Given the description of an element on the screen output the (x, y) to click on. 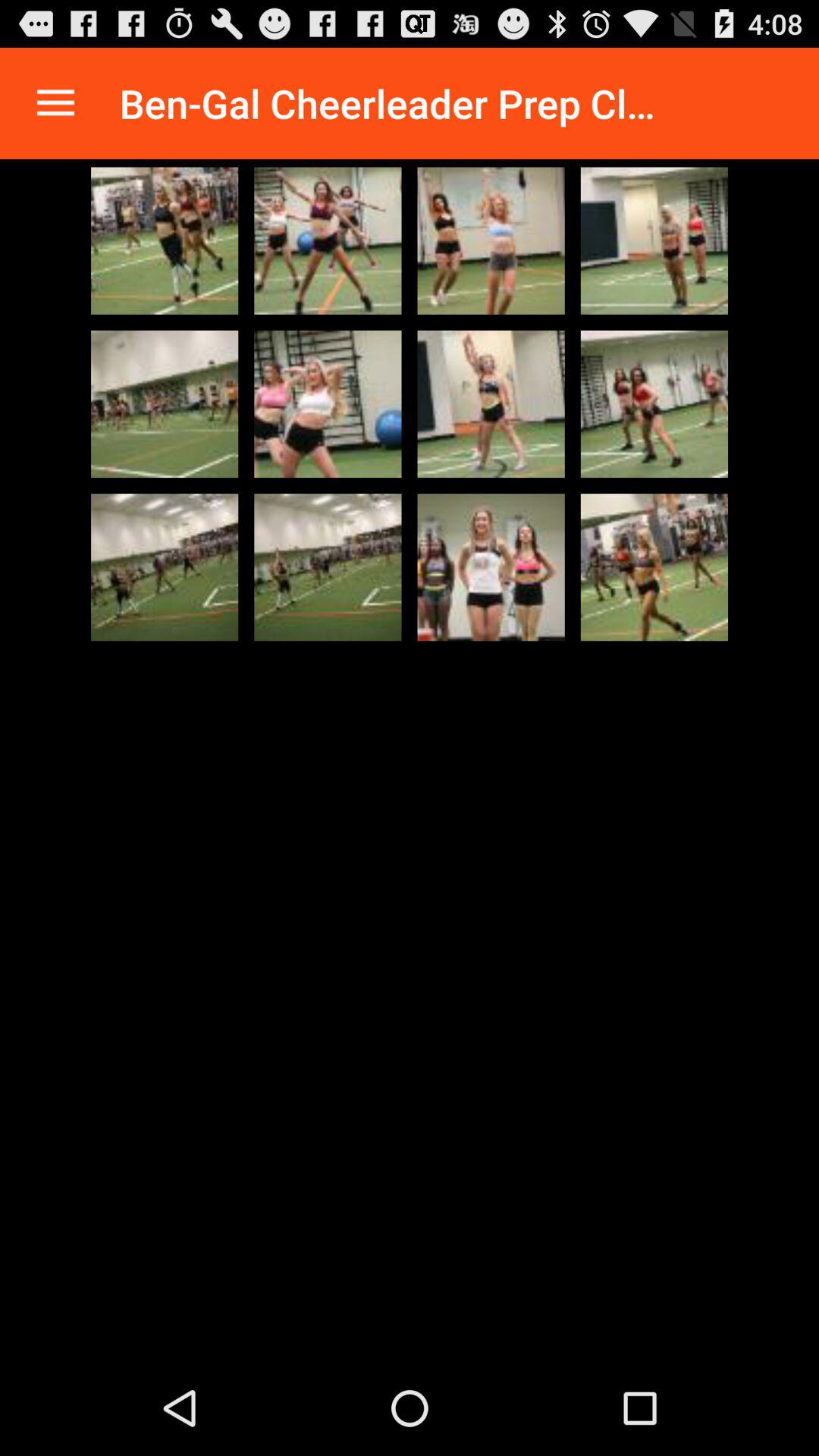
enlarge this image (164, 240)
